Given the description of an element on the screen output the (x, y) to click on. 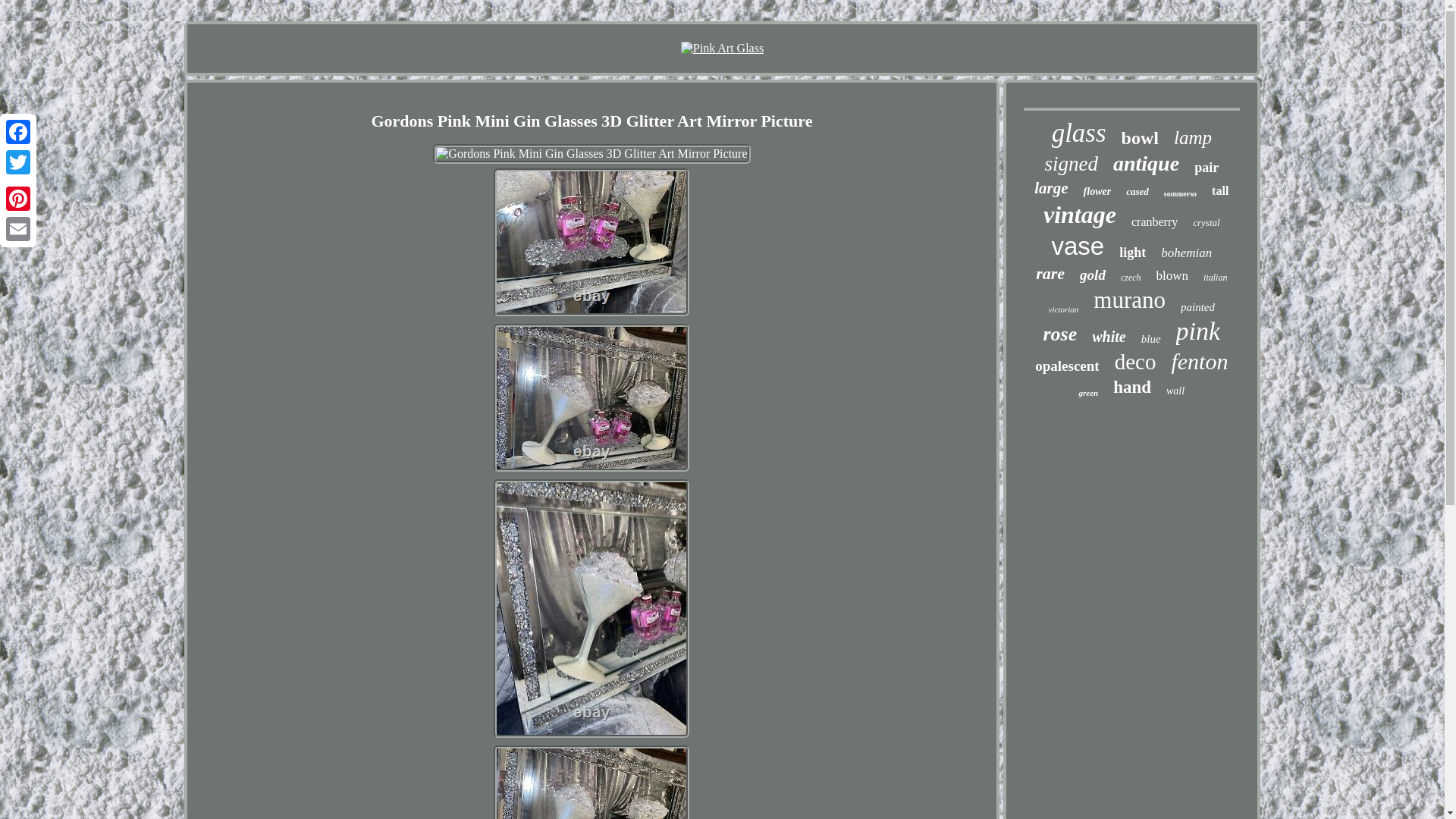
antique (1146, 163)
blue (1150, 338)
large (1050, 188)
tall (1219, 191)
Pinterest (17, 198)
bowl (1139, 137)
light (1132, 252)
painted (1197, 307)
Email (17, 228)
vase (1077, 246)
